Given the description of an element on the screen output the (x, y) to click on. 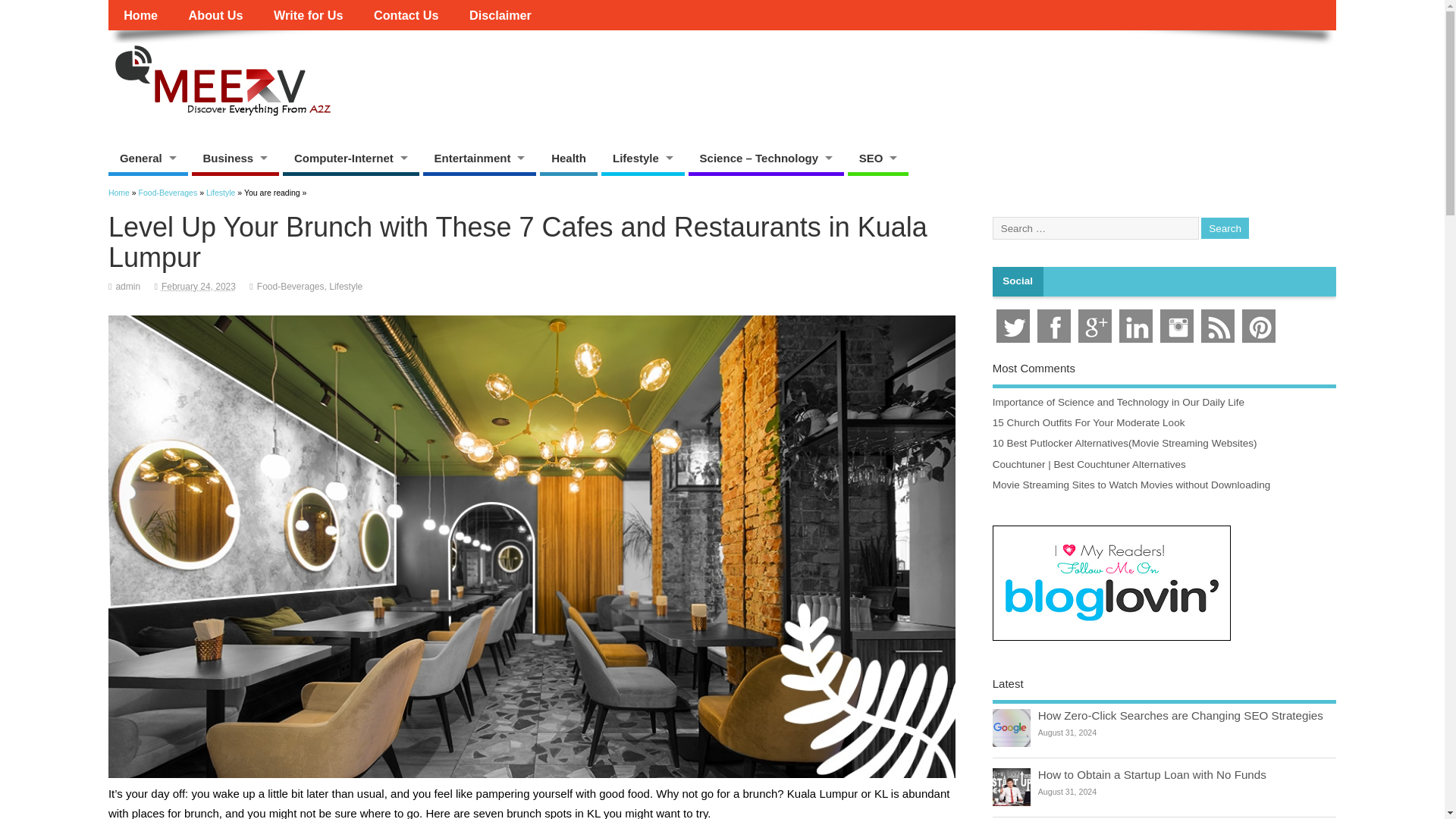
General (147, 158)
Posts by admin (127, 286)
About Us (215, 15)
Disclaimer (500, 15)
Search (1225, 228)
Lifestyle (642, 158)
Search (1225, 228)
Health (568, 158)
Entertainment (480, 158)
Contact Us (406, 15)
